Given the description of an element on the screen output the (x, y) to click on. 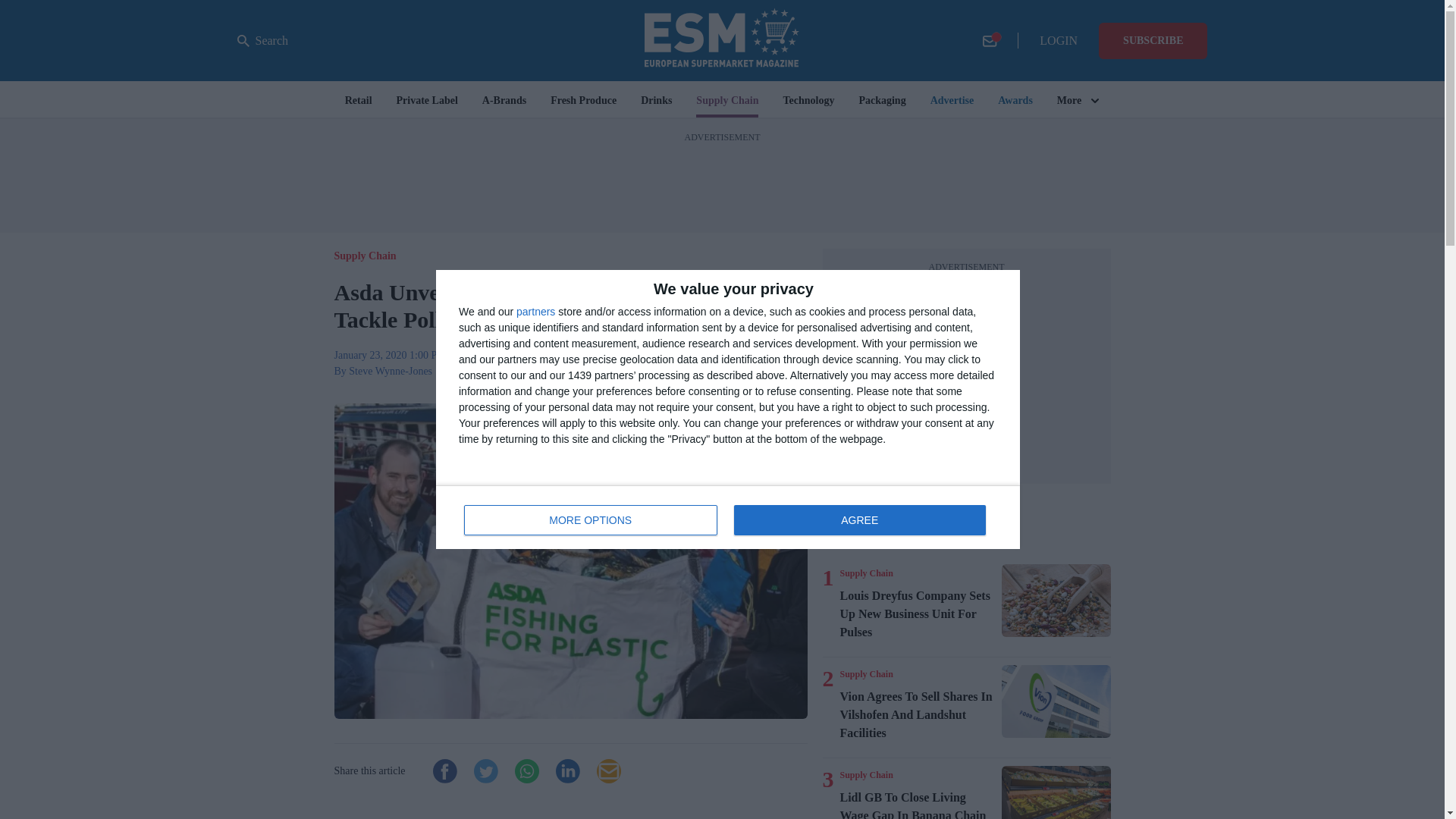
Louis Dreyfus Company Sets Up New Business Unit For Pulses (1055, 600)
Supply Chain (727, 516)
Supply Chain (866, 775)
Supply Chain (866, 674)
Louis Dreyfus Company Sets Up New Business Unit For Pulses (866, 573)
